Given the description of an element on the screen output the (x, y) to click on. 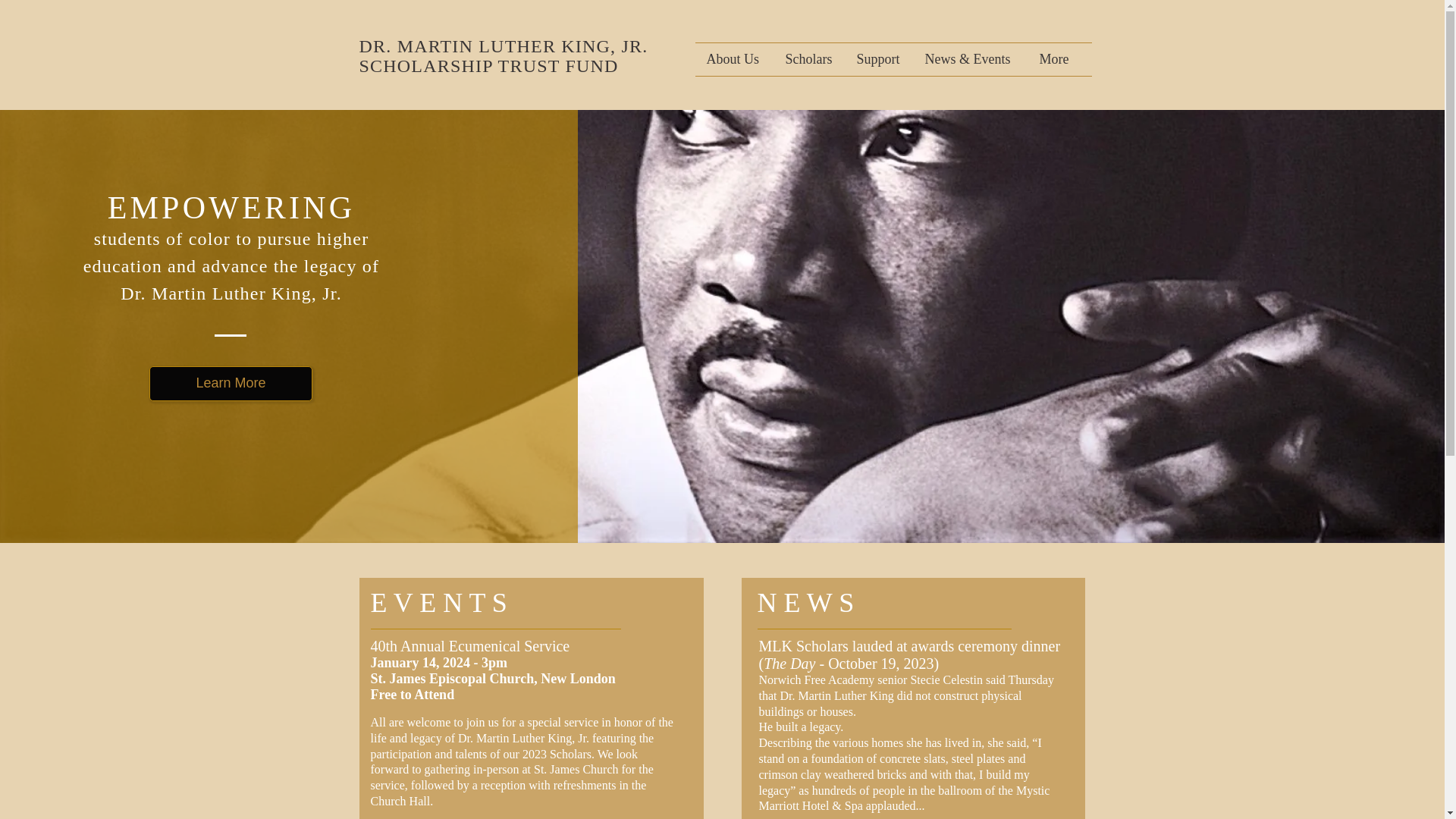
Learn More (231, 383)
DR. MARTIN LUTHER KING, JR. SCHOLARSHIP TRUST FUND (503, 56)
Support (878, 59)
